Given the description of an element on the screen output the (x, y) to click on. 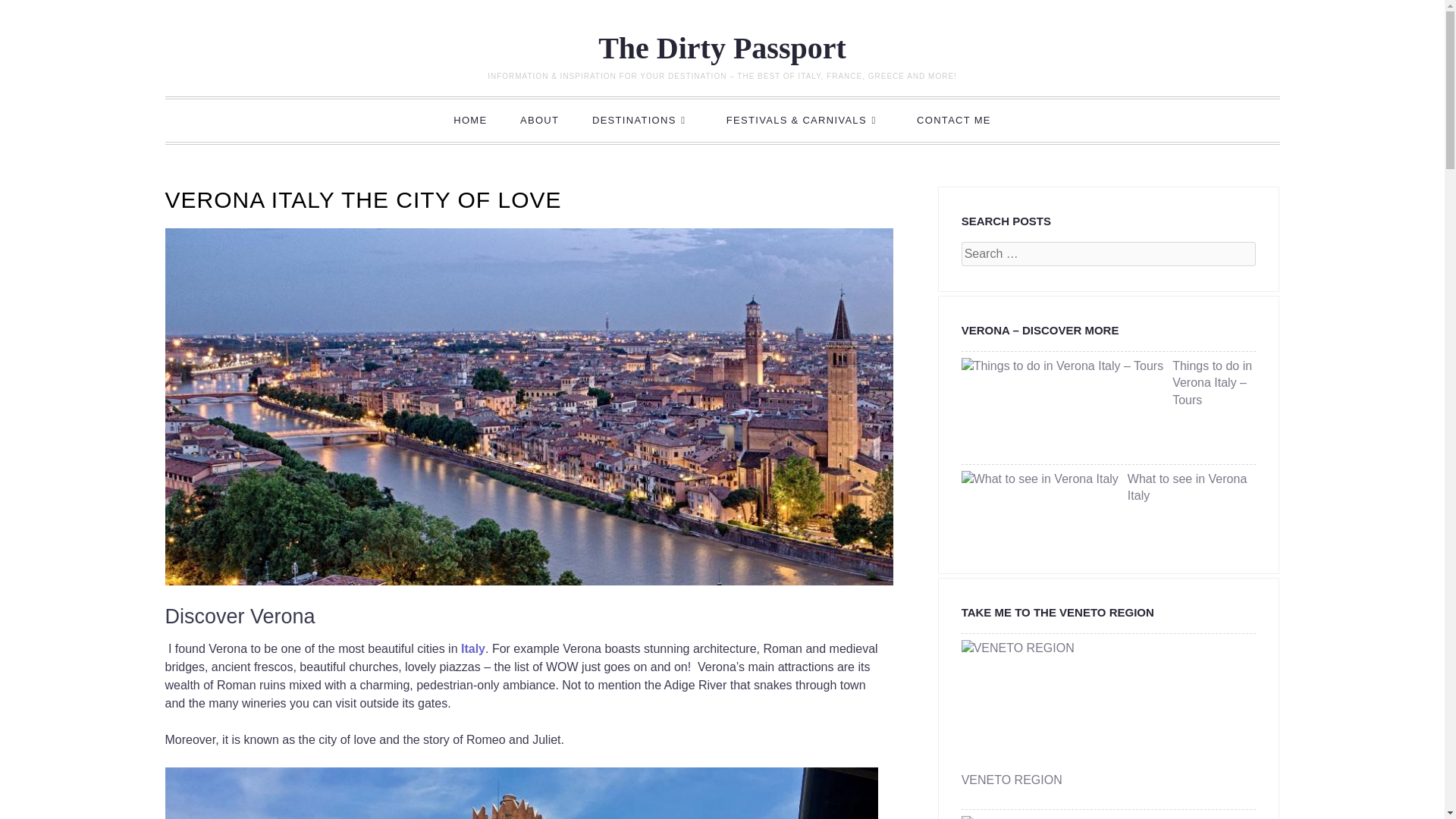
DESTINATIONS (641, 120)
SKIP TO CONTENT (230, 119)
The Dirty Passport (721, 48)
CONTACT ME (953, 120)
HOME (470, 120)
Italy (472, 648)
Skip to content (230, 119)
ABOUT (539, 120)
